Given the description of an element on the screen output the (x, y) to click on. 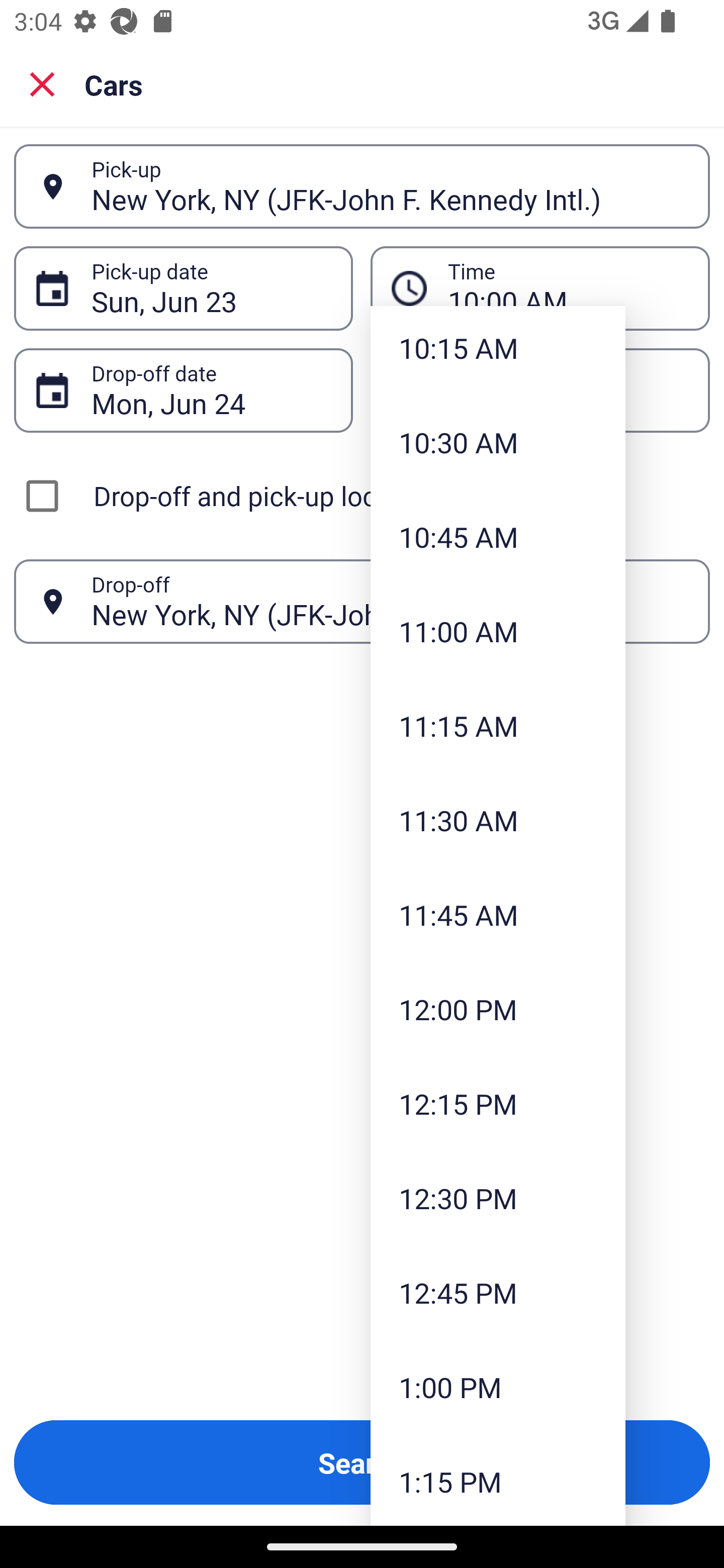
10:15 AM (497, 350)
10:30 AM (497, 442)
10:45 AM (497, 536)
11:00 AM (497, 630)
11:15 AM (497, 725)
11:30 AM (497, 820)
11:45 AM (497, 914)
12:00 PM (497, 1008)
12:15 PM (497, 1103)
12:30 PM (497, 1197)
12:45 PM (497, 1291)
1:00 PM (497, 1386)
1:15 PM (497, 1479)
